Given the description of an element on the screen output the (x, y) to click on. 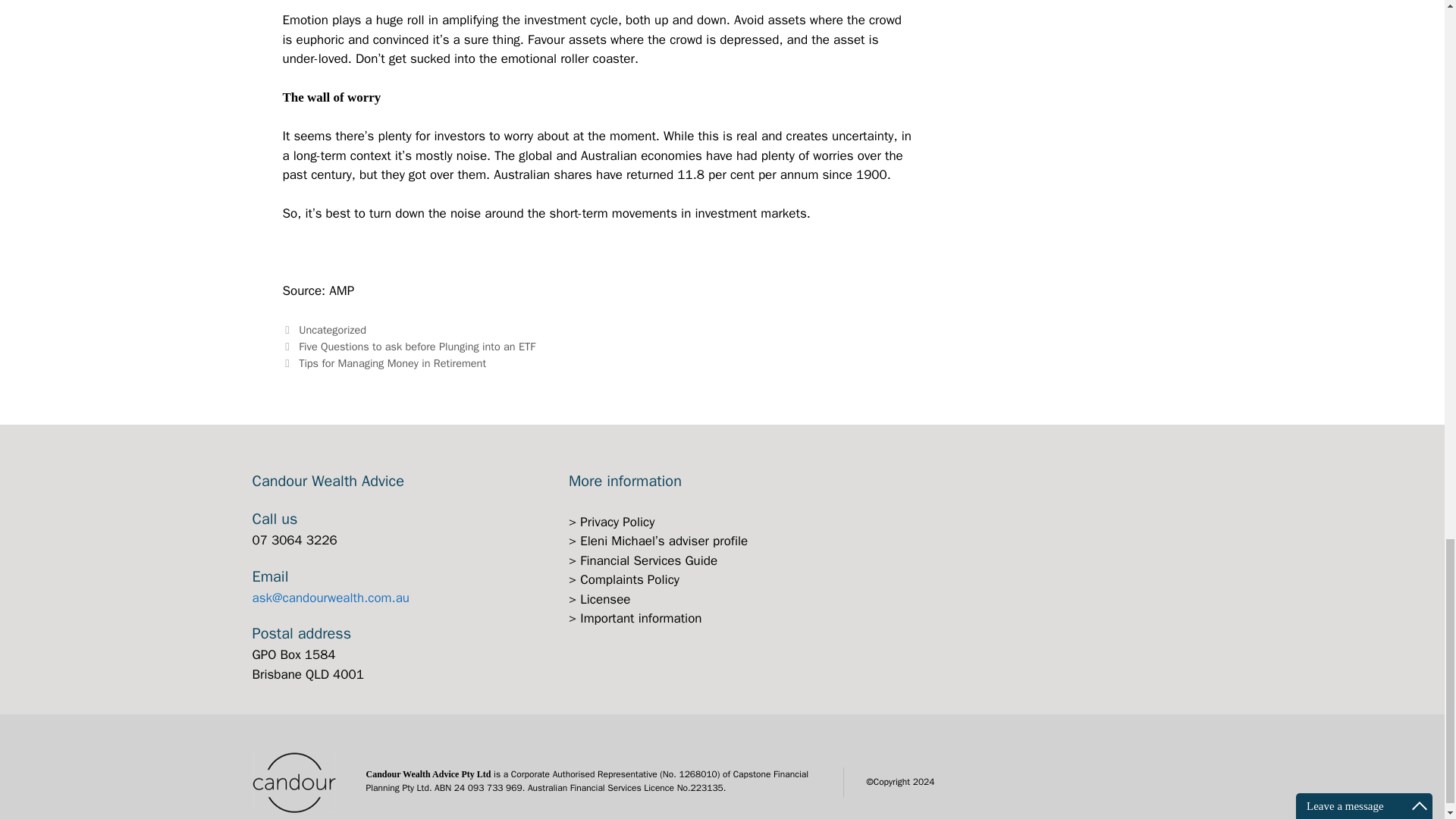
Uncategorized (332, 329)
Five Questions to ask before Plunging into an ETF (416, 345)
Tips for Managing Money in Retirement (392, 363)
